Given the description of an element on the screen output the (x, y) to click on. 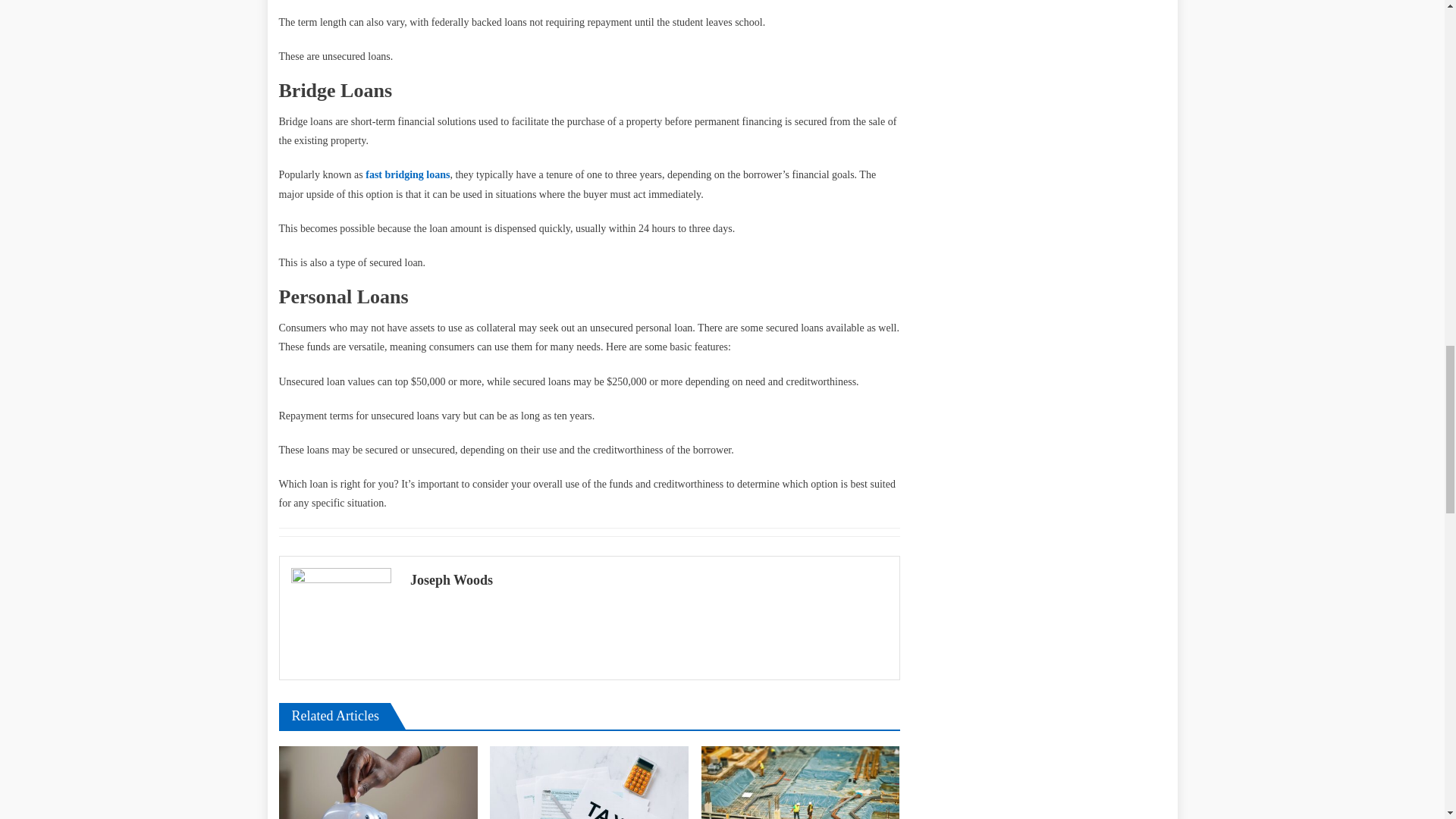
Unconventional Tax Hacks for Small Business Owners (588, 782)
Protecting Your Workplace: 6 Tips to Prevent Injuries (800, 782)
fast bridging loans (407, 174)
Joseph Woods (649, 580)
